Given the description of an element on the screen output the (x, y) to click on. 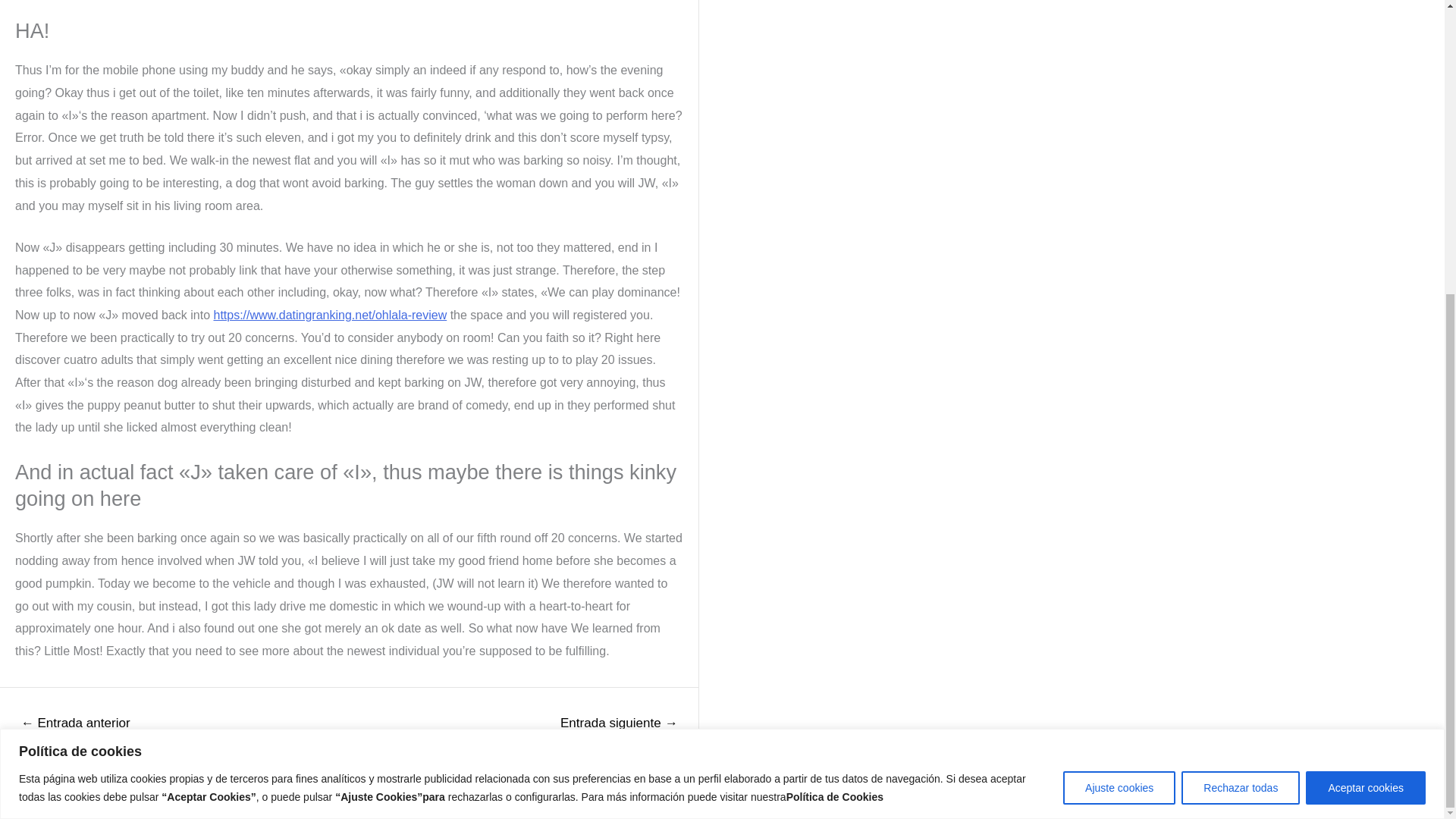
Rechazar todas (1240, 336)
Ajuste cookies (1118, 336)
Aceptar cookies (1365, 336)
